Given the description of an element on the screen output the (x, y) to click on. 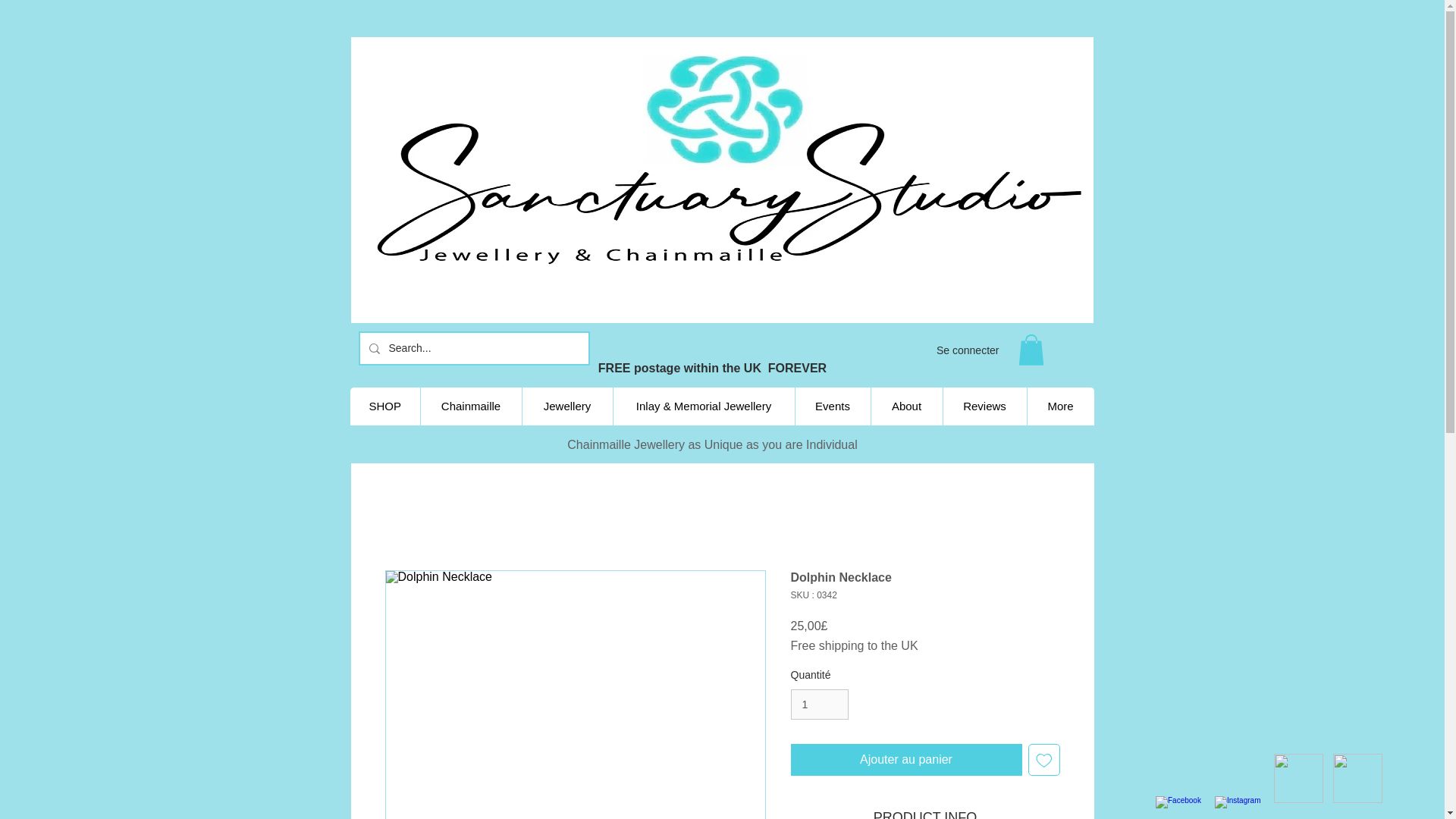
1 (818, 704)
Se connecter (968, 350)
Reviews (984, 406)
About (906, 406)
Ajouter au panier (906, 759)
Free shipping to the UK (853, 645)
Chainmaille (470, 406)
Jewellery (566, 406)
SHOP (385, 406)
Events (832, 406)
